Given the description of an element on the screen output the (x, y) to click on. 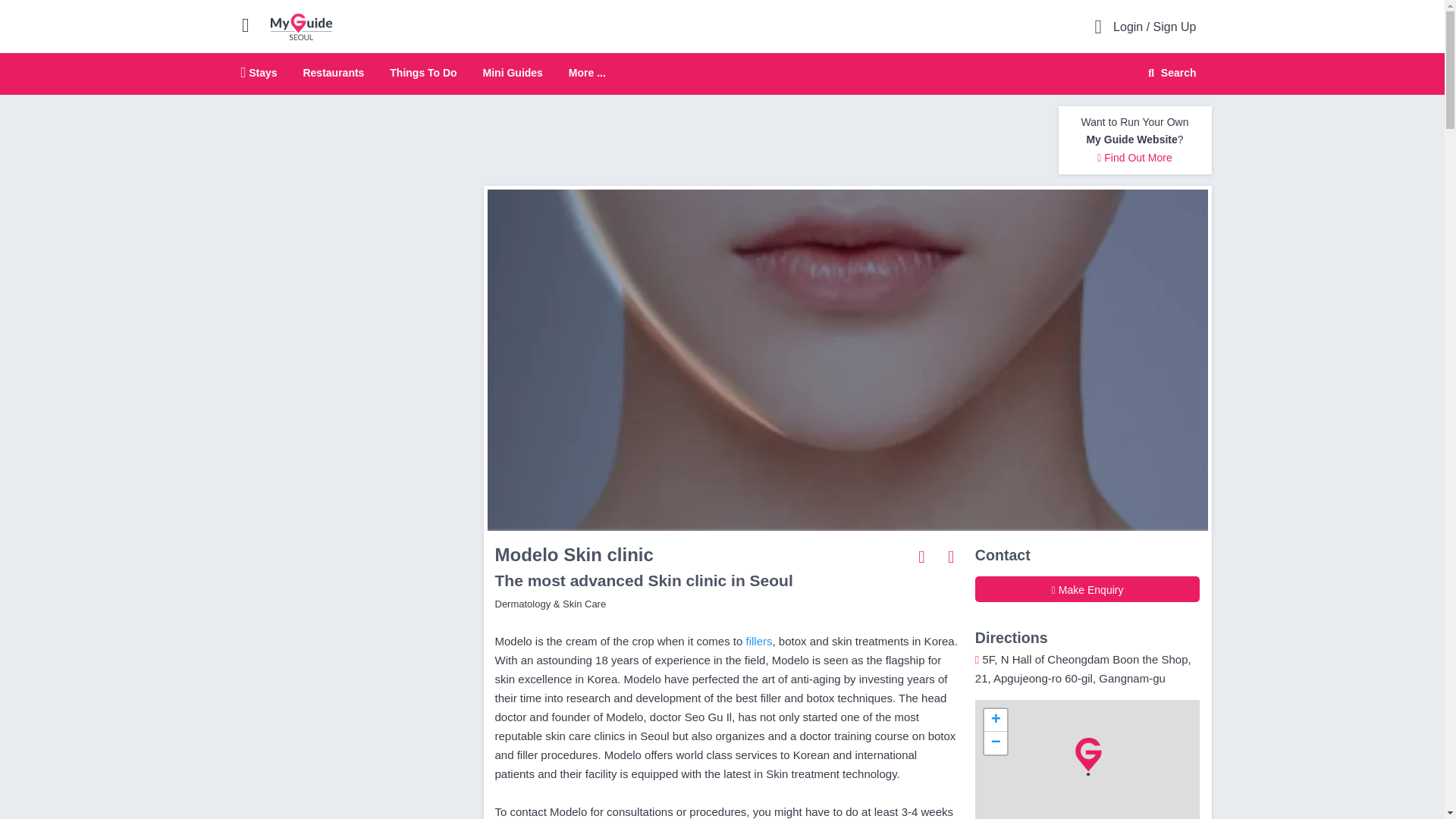
Restaurants (333, 72)
Things To Do (423, 72)
More ... (587, 72)
Mini Guides (513, 72)
Find Out More (721, 74)
Modelo Skin clinic (1134, 157)
fillers (995, 743)
Search Website (759, 640)
